Given the description of an element on the screen output the (x, y) to click on. 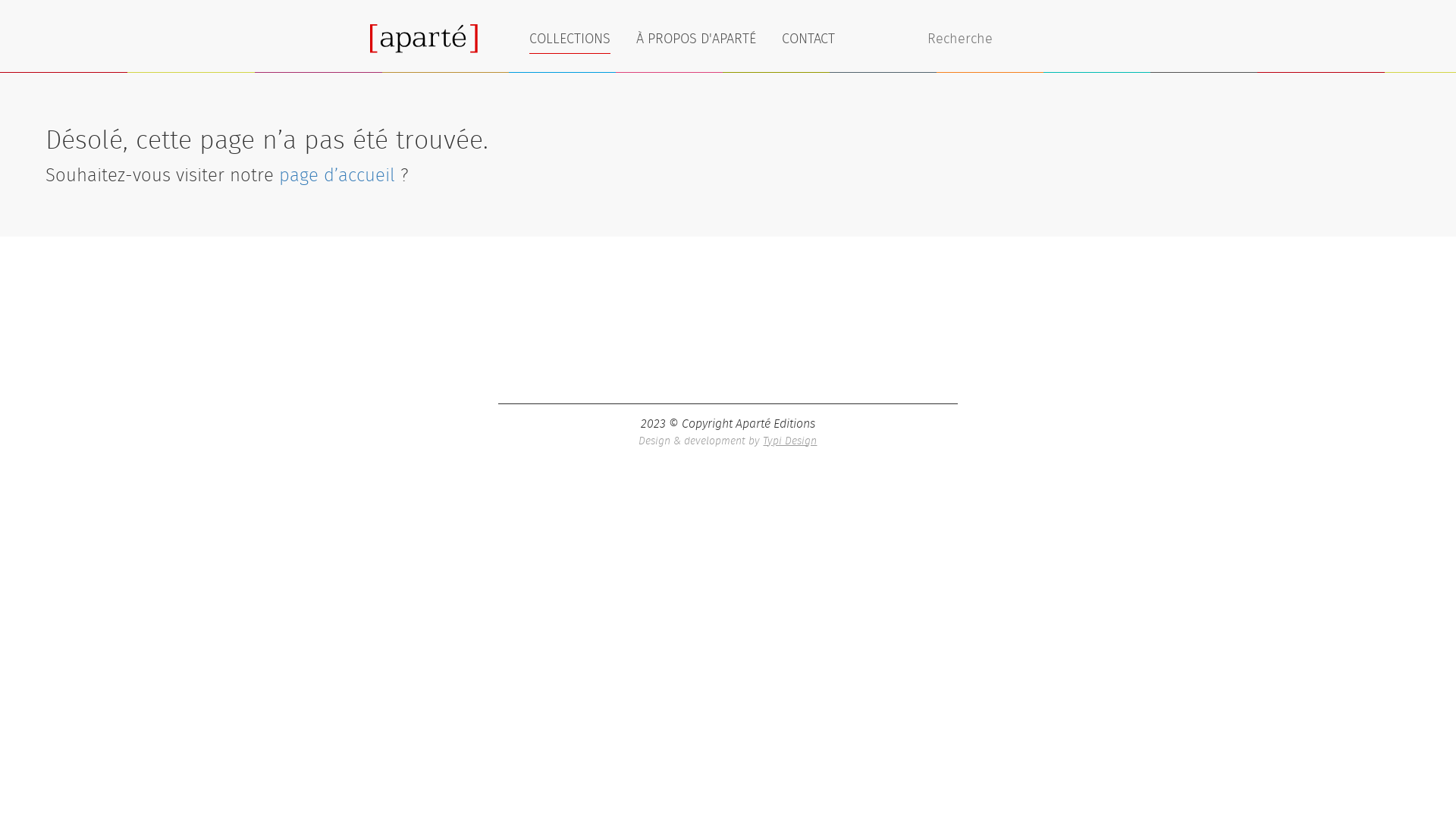
COLLECTIONS Element type: text (569, 36)
Typi Design Element type: text (789, 440)
CONTACT Element type: text (807, 35)
